Given the description of an element on the screen output the (x, y) to click on. 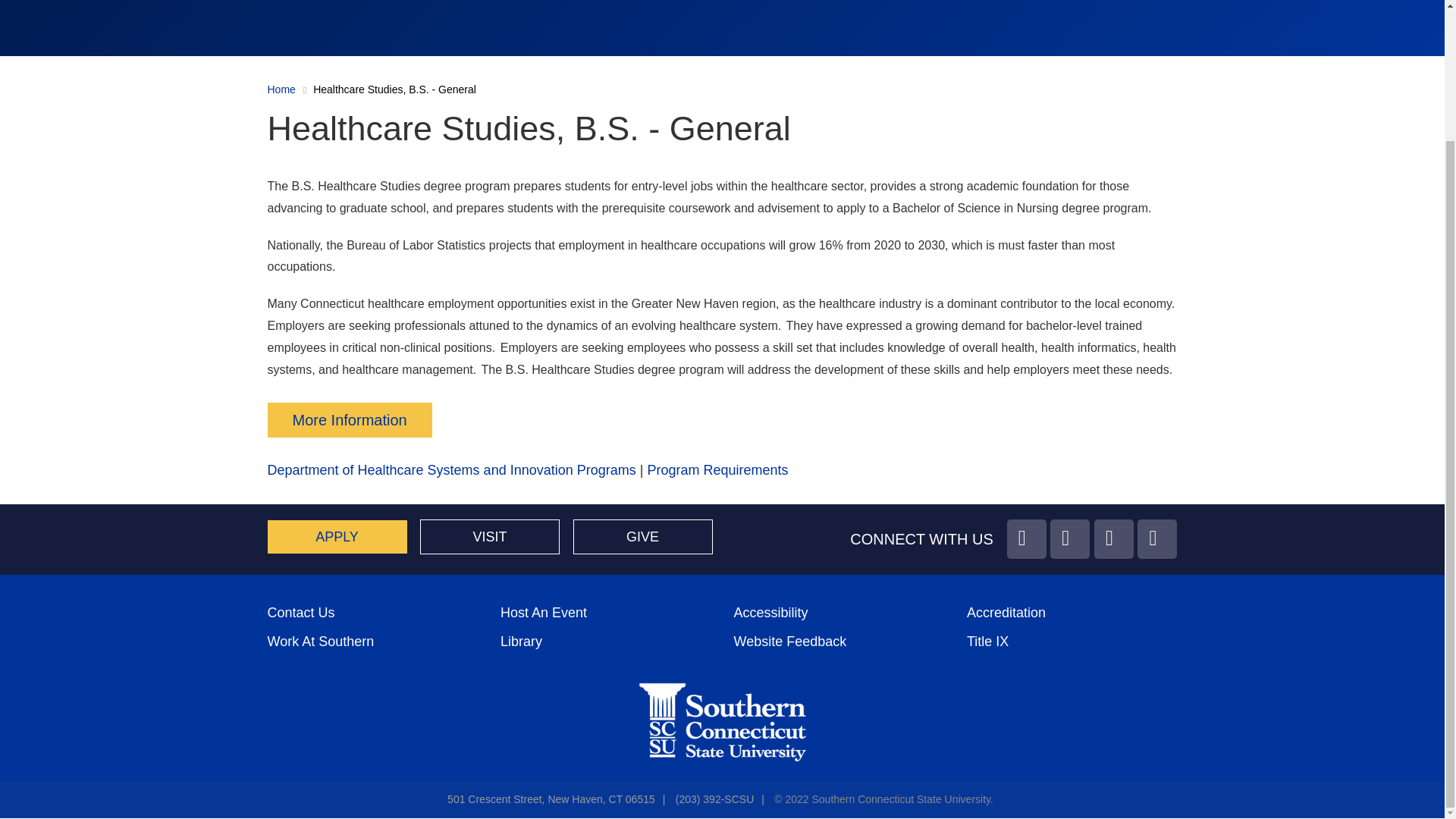
Program Requirements (716, 469)
VISIT (489, 536)
Department of Healthcare Systems and Innovation Programs (450, 469)
Home (280, 89)
APPLY (336, 536)
More Information (348, 419)
